Given the description of an element on the screen output the (x, y) to click on. 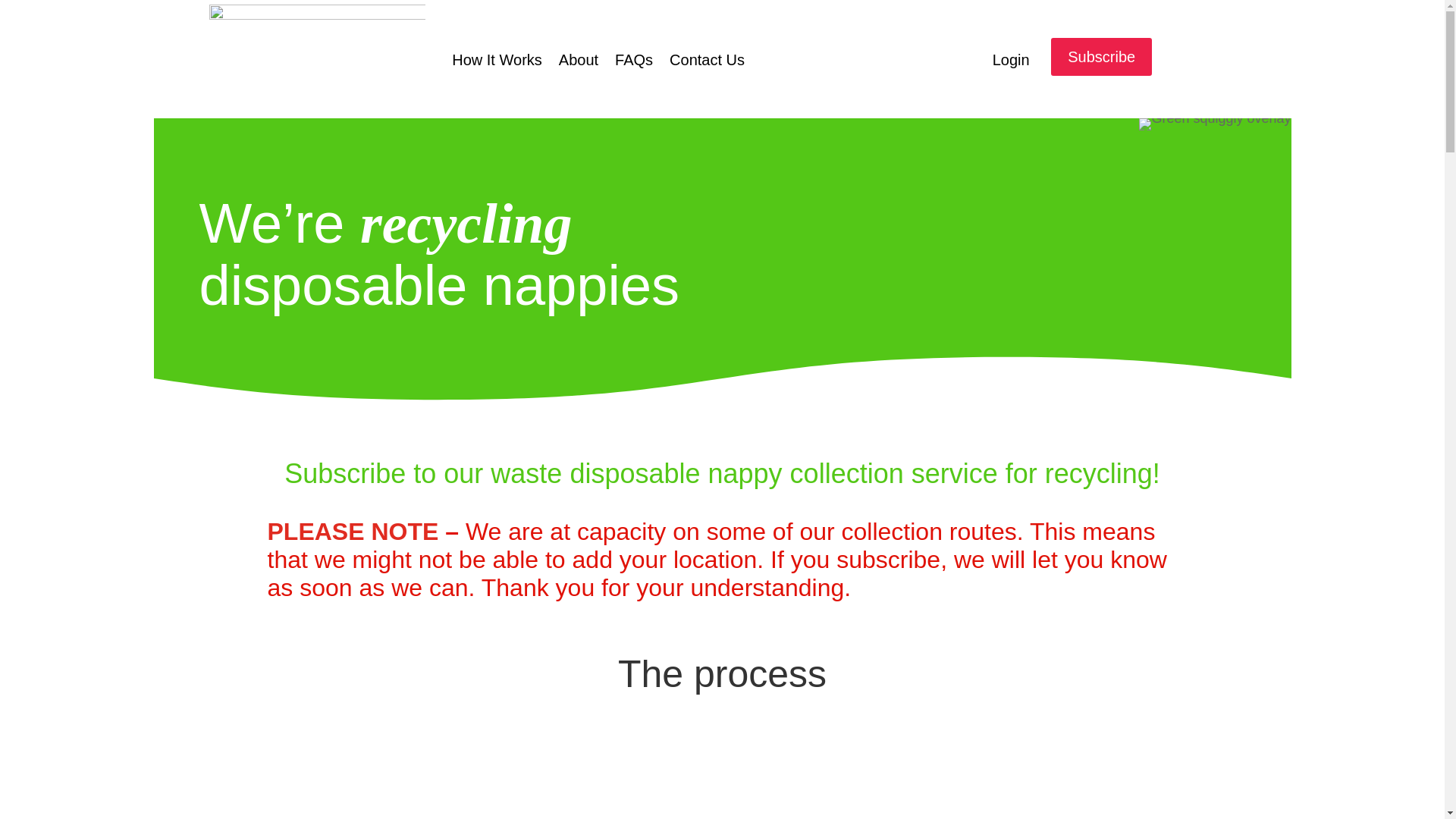
Subscribe (344, 472)
Subscribe (1101, 56)
How It Works (496, 62)
green-pattern (1214, 123)
Contact Us (706, 62)
FAQs (633, 62)
diaperrecyclelogo3 (317, 58)
About (578, 62)
